Given the description of an element on the screen output the (x, y) to click on. 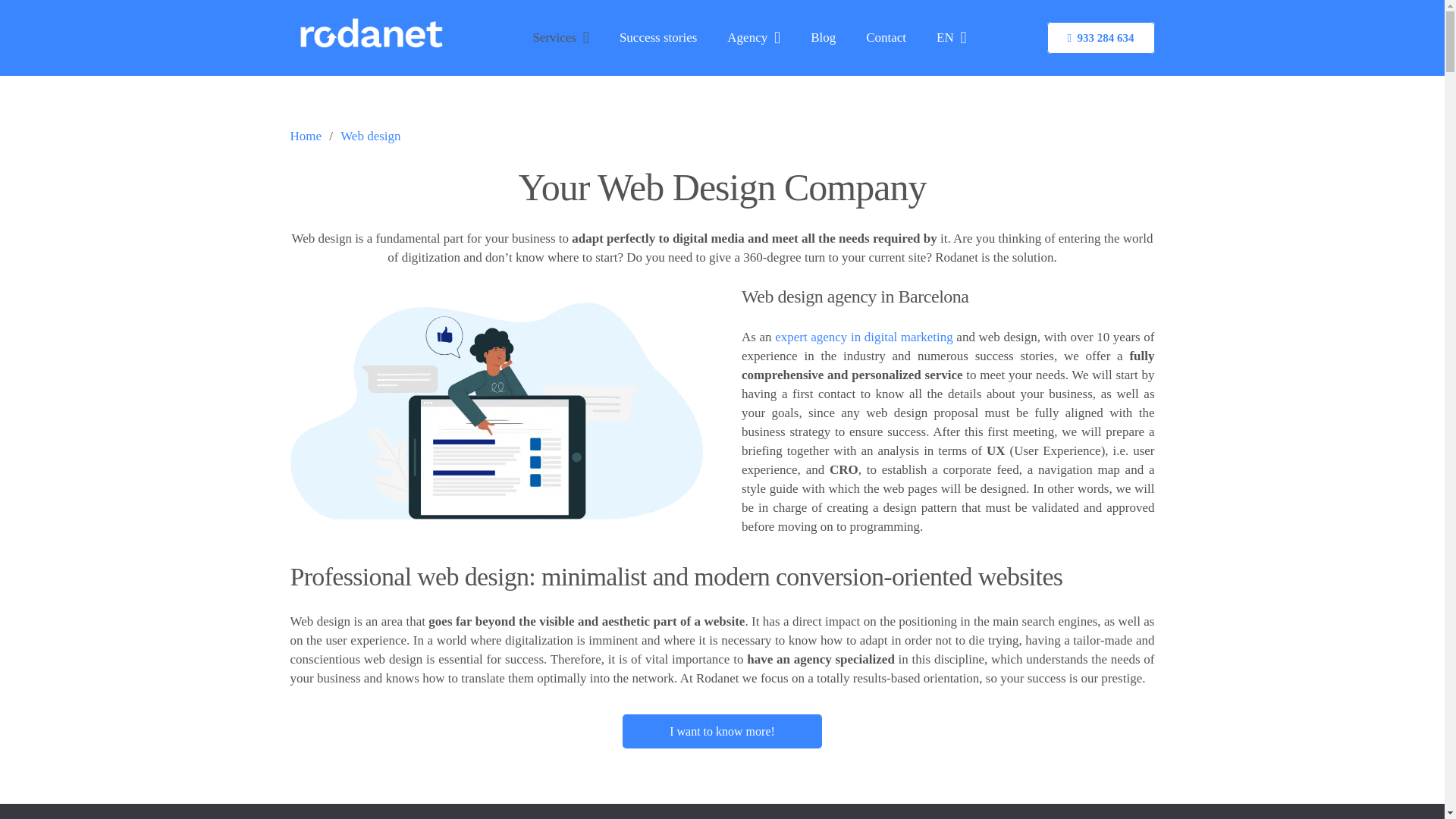
Success stories (657, 38)
Contact (885, 38)
Services (560, 38)
Agency (752, 38)
933 284 634 (1100, 38)
